Given the description of an element on the screen output the (x, y) to click on. 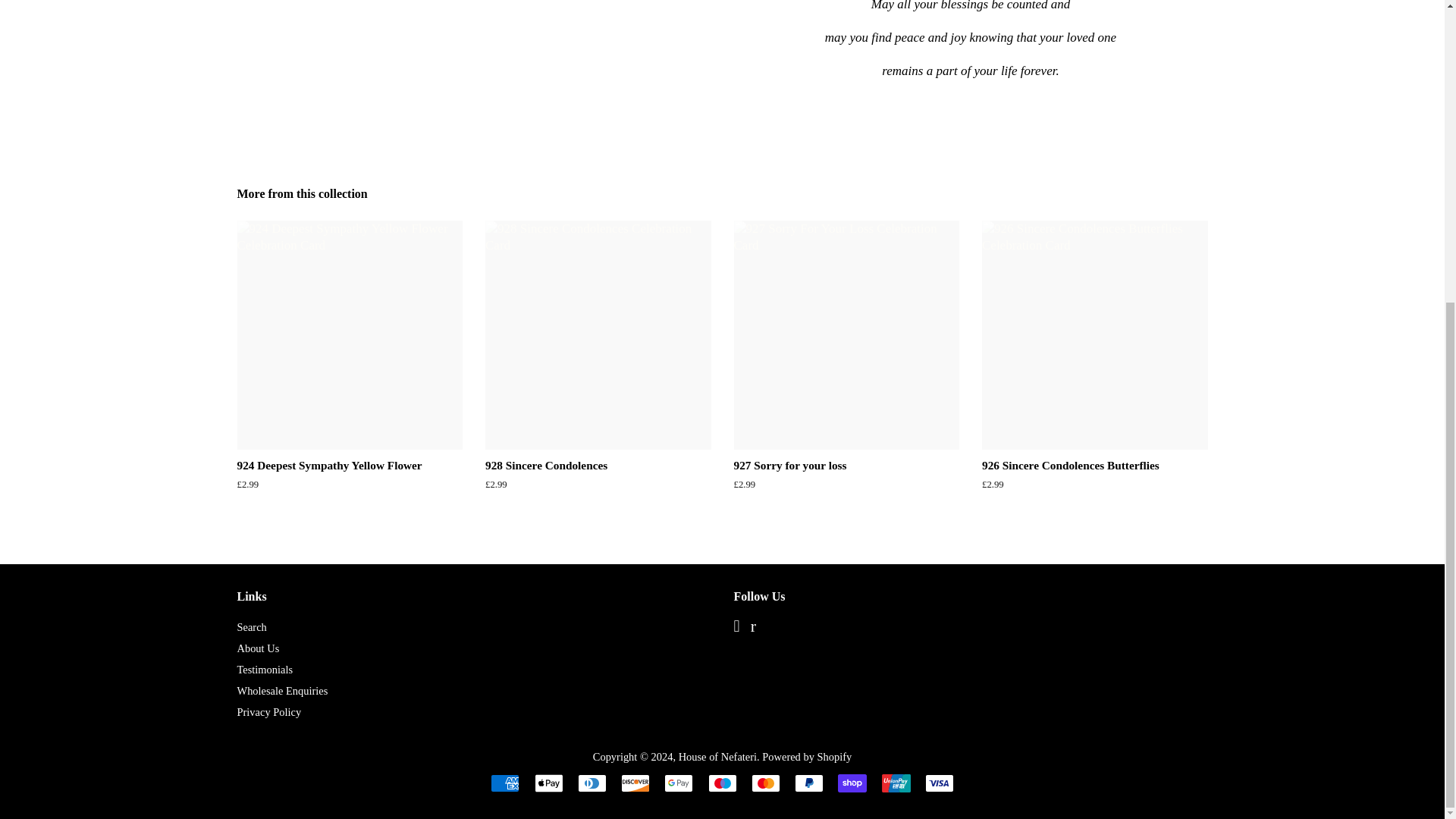
Visa (938, 782)
Mastercard (765, 782)
American Express (504, 782)
Diners Club (592, 782)
Union Pay (895, 782)
Discover (635, 782)
Maestro (721, 782)
Shop Pay (852, 782)
Google Pay (678, 782)
Apple Pay (548, 782)
PayPal (809, 782)
